Given the description of an element on the screen output the (x, y) to click on. 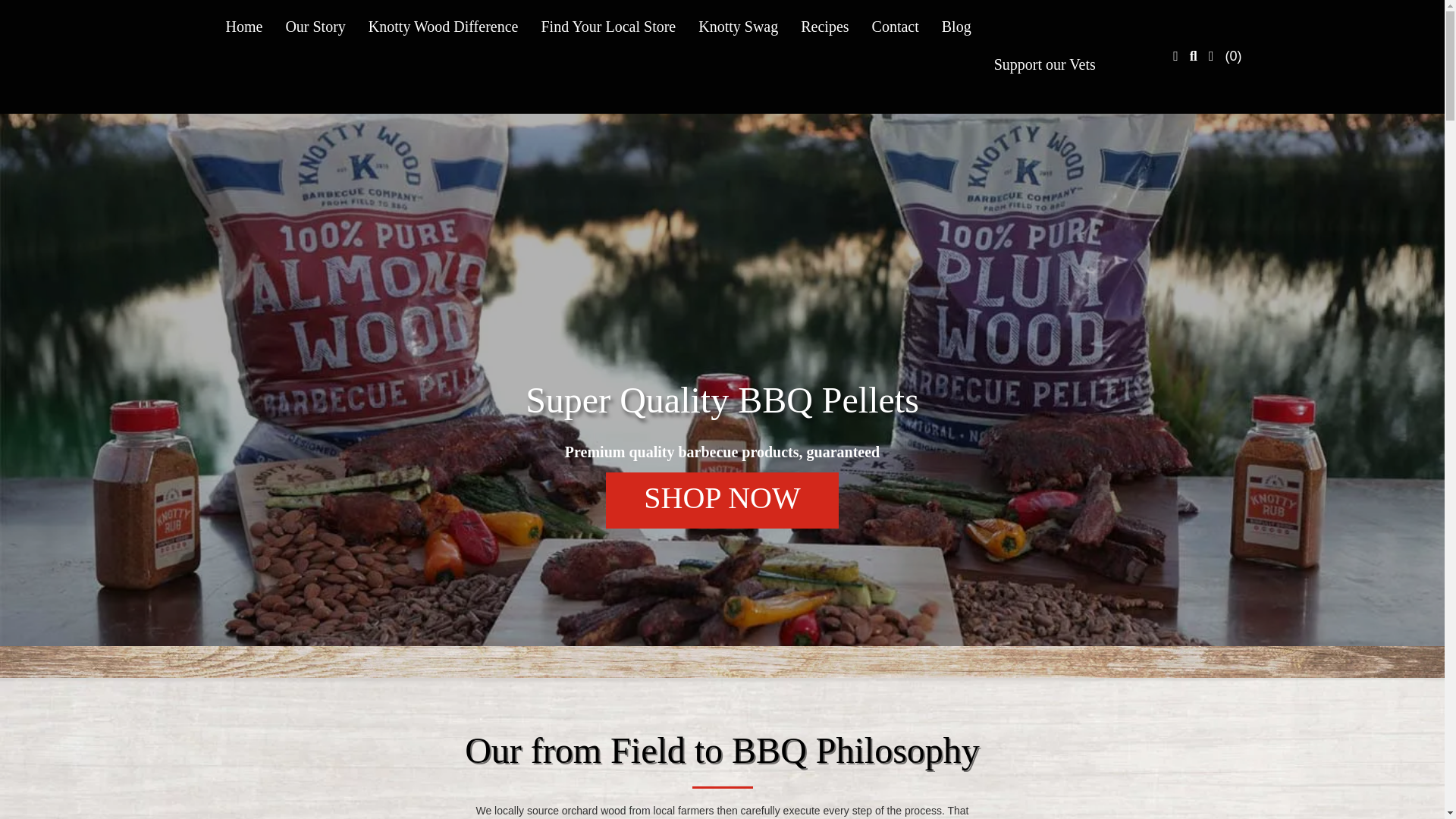
Knotty Wood Difference (442, 26)
SHOP NOW (721, 500)
Knotty Swag (738, 26)
Recipes (824, 26)
Blog (956, 26)
Home (243, 26)
Find Your Local Store (608, 26)
Our Story (314, 26)
Support our Vets (1044, 64)
Contact (895, 26)
